Given the description of an element on the screen output the (x, y) to click on. 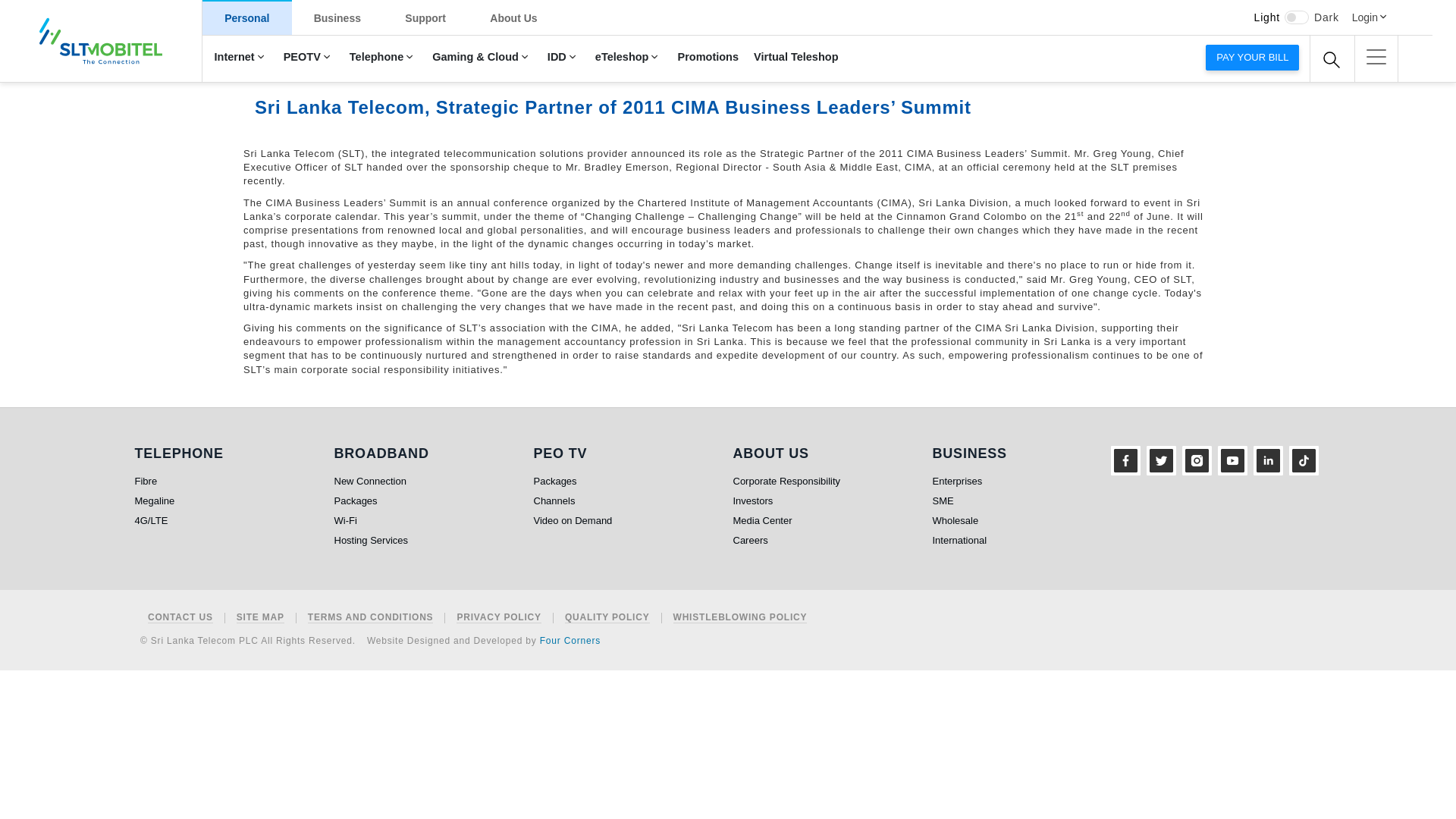
on (1296, 17)
Personal (247, 17)
Internet (240, 57)
SLT Quality Policy (606, 617)
